Given the description of an element on the screen output the (x, y) to click on. 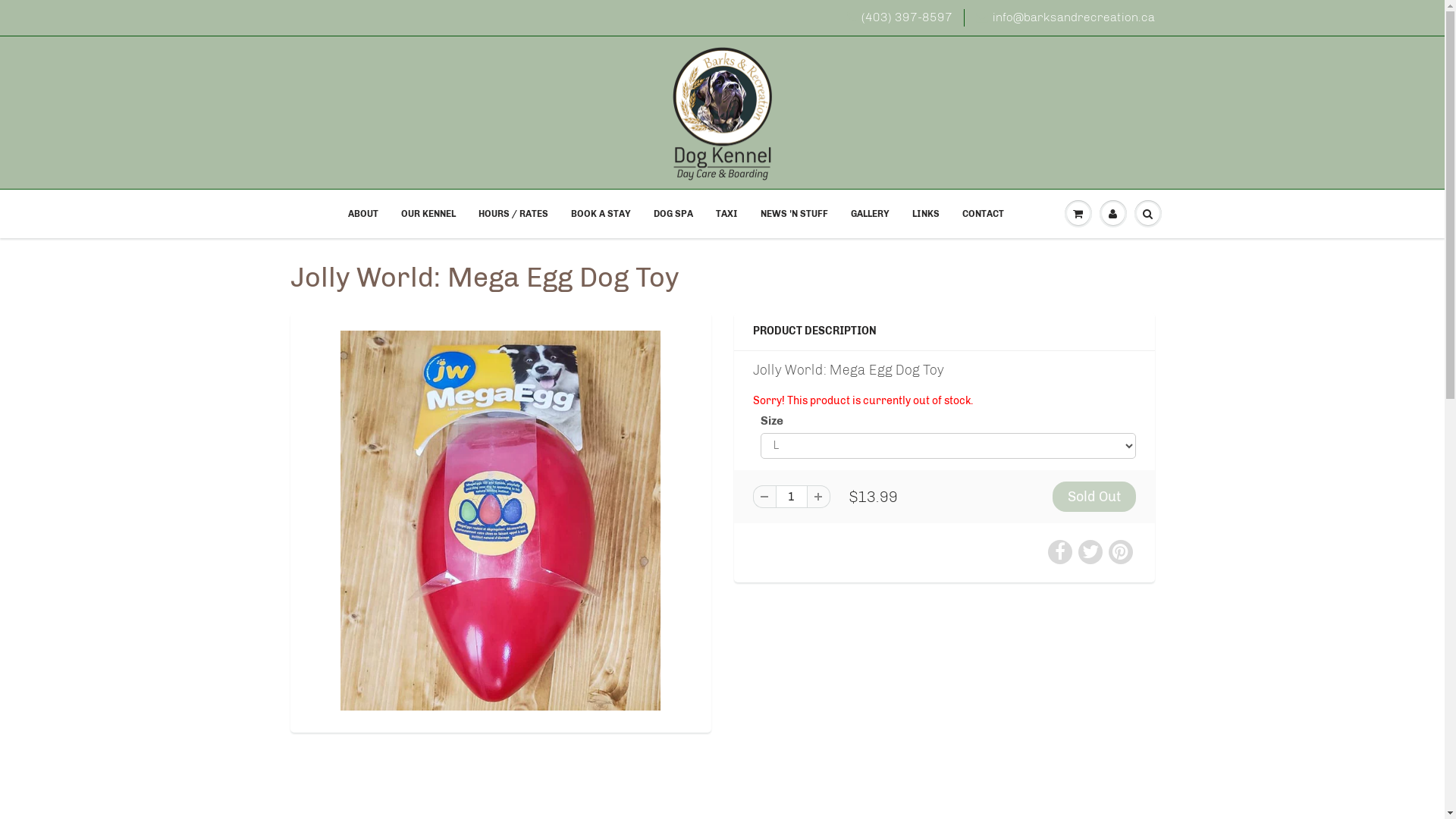
GALLERY Element type: text (869, 213)
BOOK A STAY Element type: text (600, 213)
TAXI Element type: text (725, 213)
HOURS / RATES Element type: text (513, 213)
ABOUT Element type: text (362, 213)
Jolly World: Mega Egg Dog Toy Element type: hover (500, 519)
(403) 397-8597 Element type: text (898, 17)
CONTACT Element type: text (982, 213)
DOG SPA Element type: text (672, 213)
Sold Out Element type: text (1093, 496)
LINKS Element type: text (925, 213)
OUR KENNEL Element type: text (428, 213)
info@barksandrecreation.ca Element type: text (1064, 17)
NEWS 'N STUFF Element type: text (794, 213)
